Given the description of an element on the screen output the (x, y) to click on. 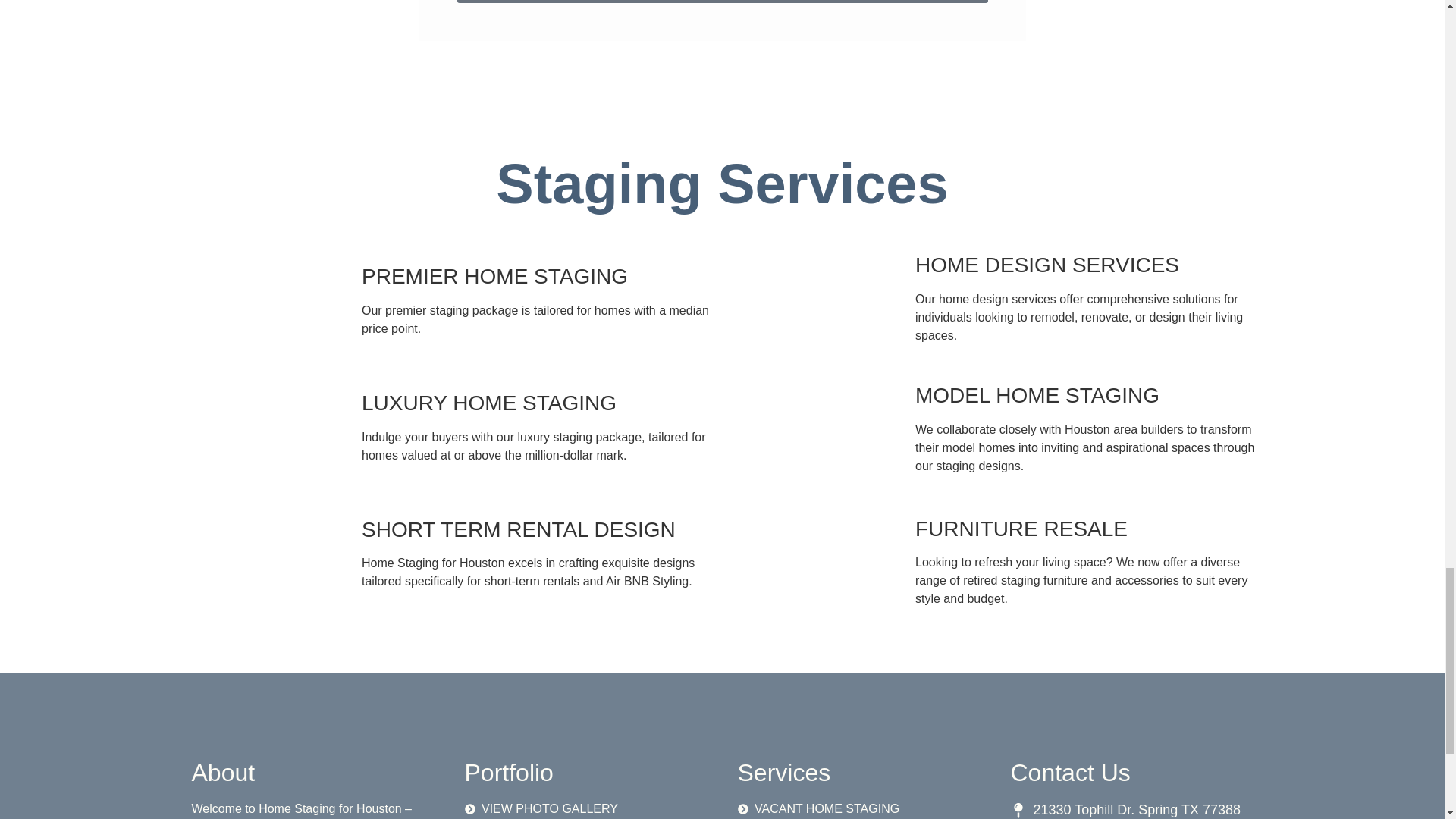
Portfolio 3 (269, 295)
Portfolio 6 (823, 292)
Portfolio 8 (823, 556)
Portfolio 4 (269, 421)
Portfolio 7 (823, 423)
Portfolio 5 (269, 548)
